Given the description of an element on the screen output the (x, y) to click on. 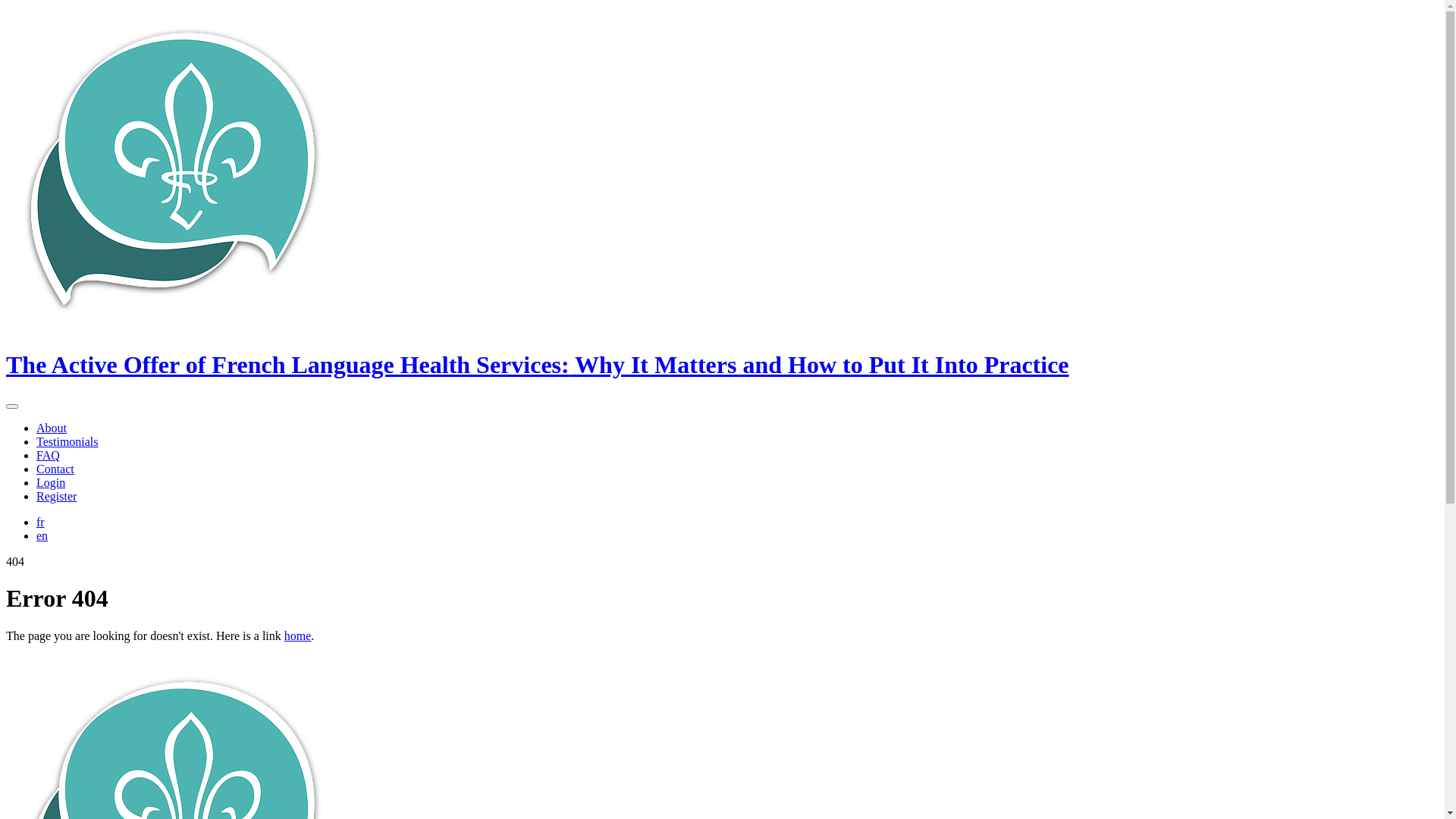
Contact Element type: text (55, 468)
en Element type: text (41, 535)
Testimonials Element type: text (67, 441)
About Element type: text (51, 427)
Login Element type: text (50, 482)
FAQ Element type: text (47, 454)
fr Element type: text (40, 521)
Register Element type: text (56, 495)
home Element type: text (297, 635)
